Given the description of an element on the screen output the (x, y) to click on. 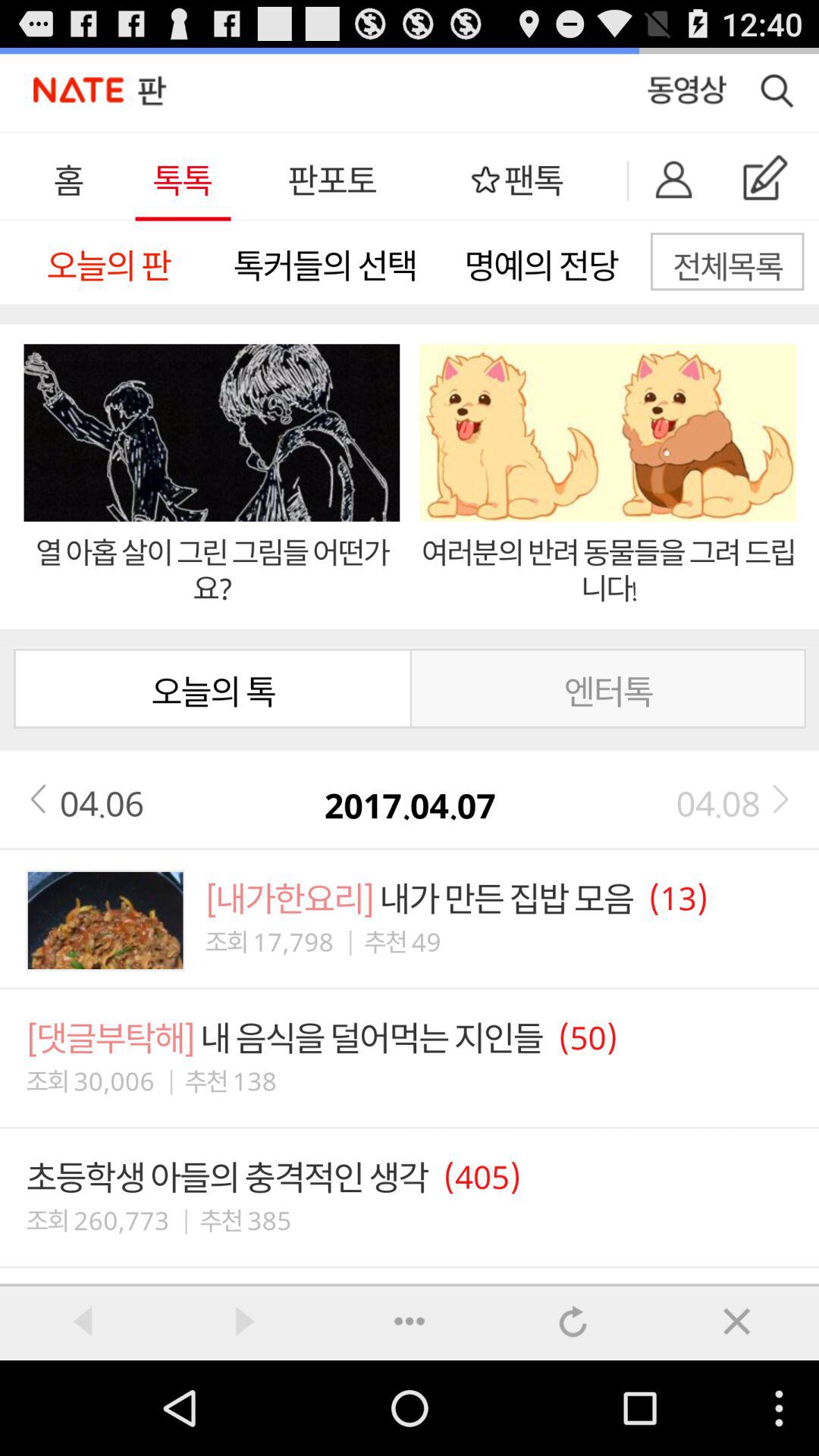
refreshing option (573, 1320)
